Given the description of an element on the screen output the (x, y) to click on. 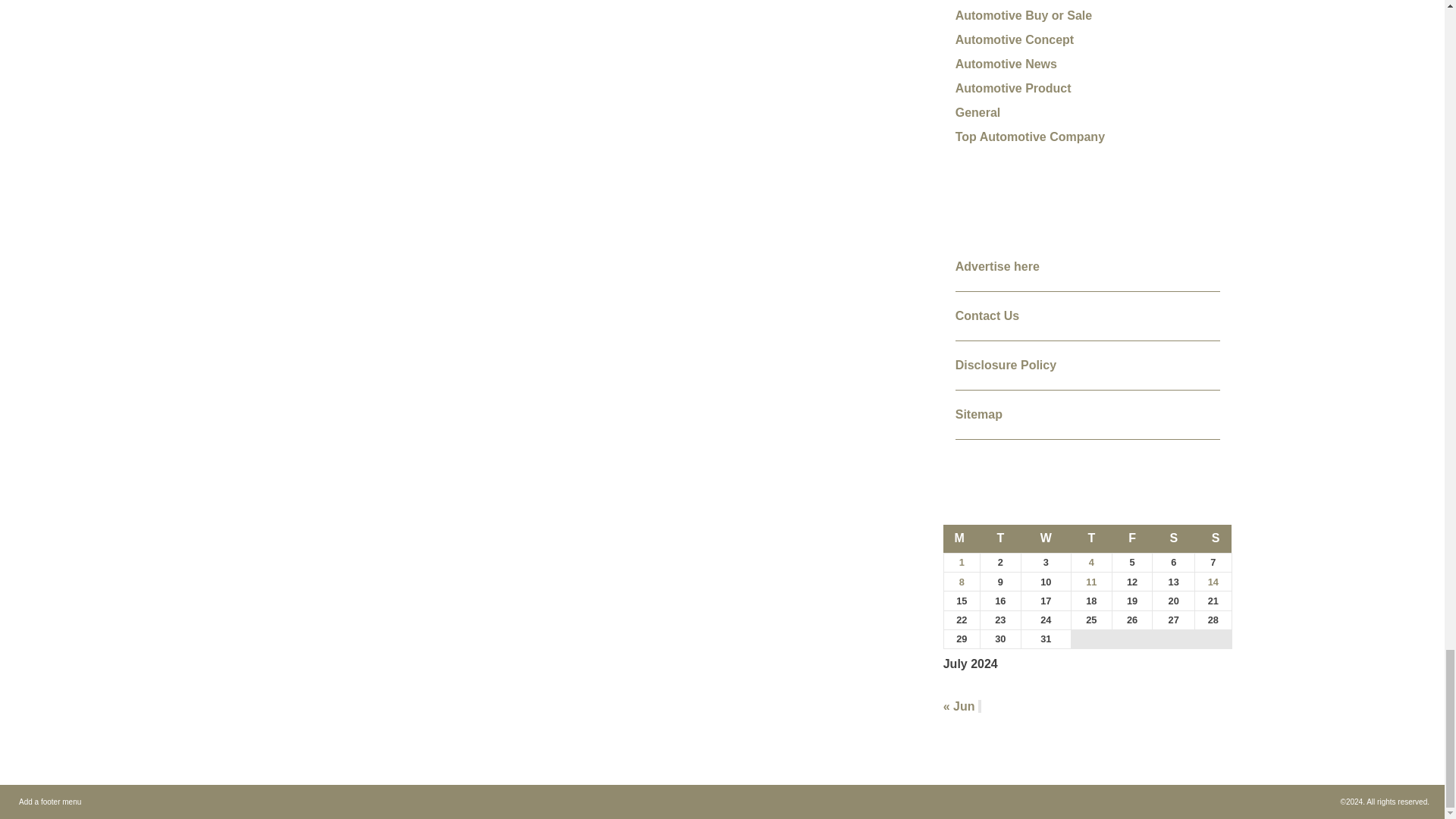
Thursday (1091, 538)
Tuesday (1000, 538)
Sunday (1213, 538)
Monday (961, 538)
Friday (1132, 538)
Saturday (1174, 538)
Wednesday (1045, 538)
